Given the description of an element on the screen output the (x, y) to click on. 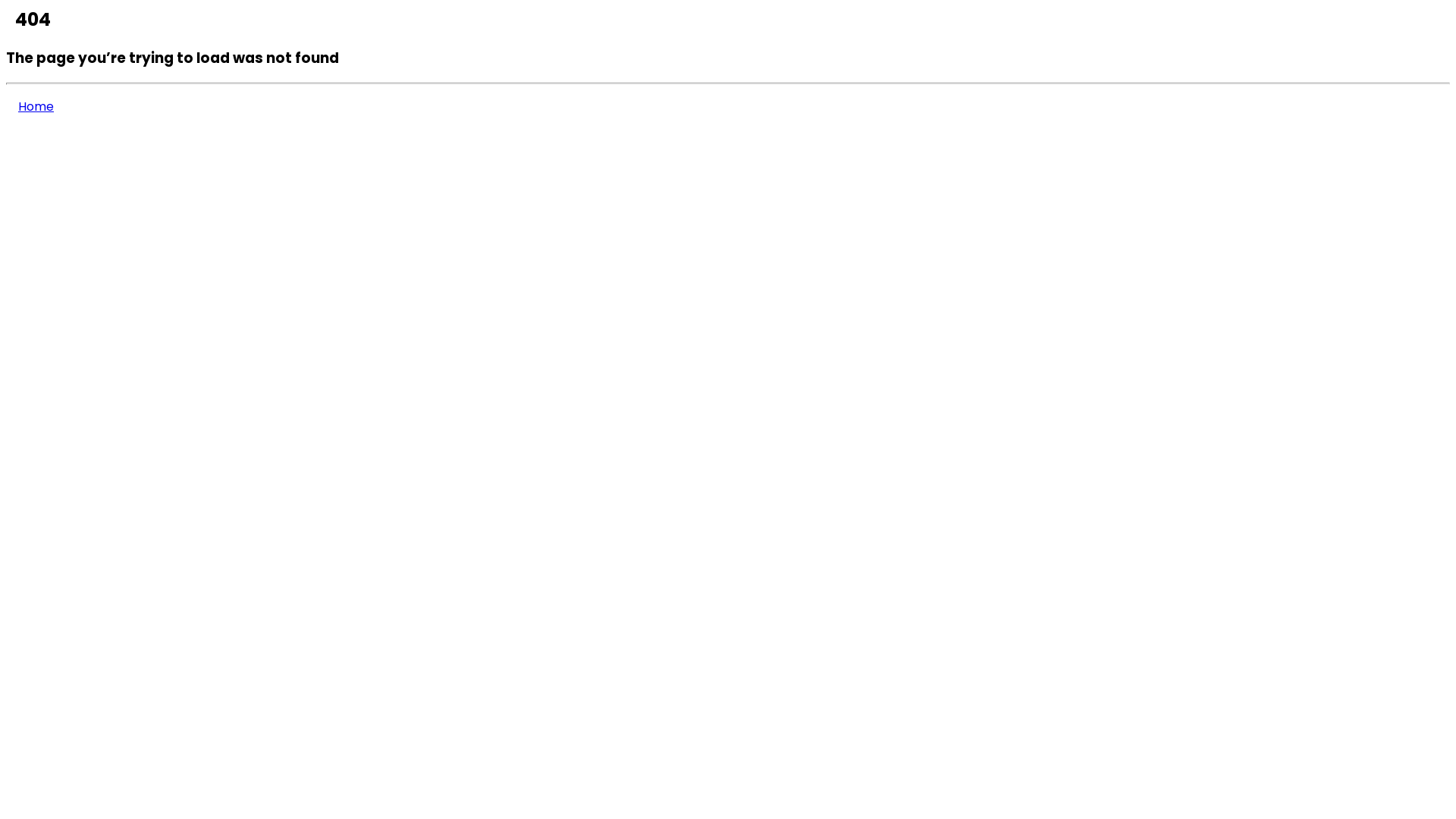
Home Element type: text (35, 106)
